Given the description of an element on the screen output the (x, y) to click on. 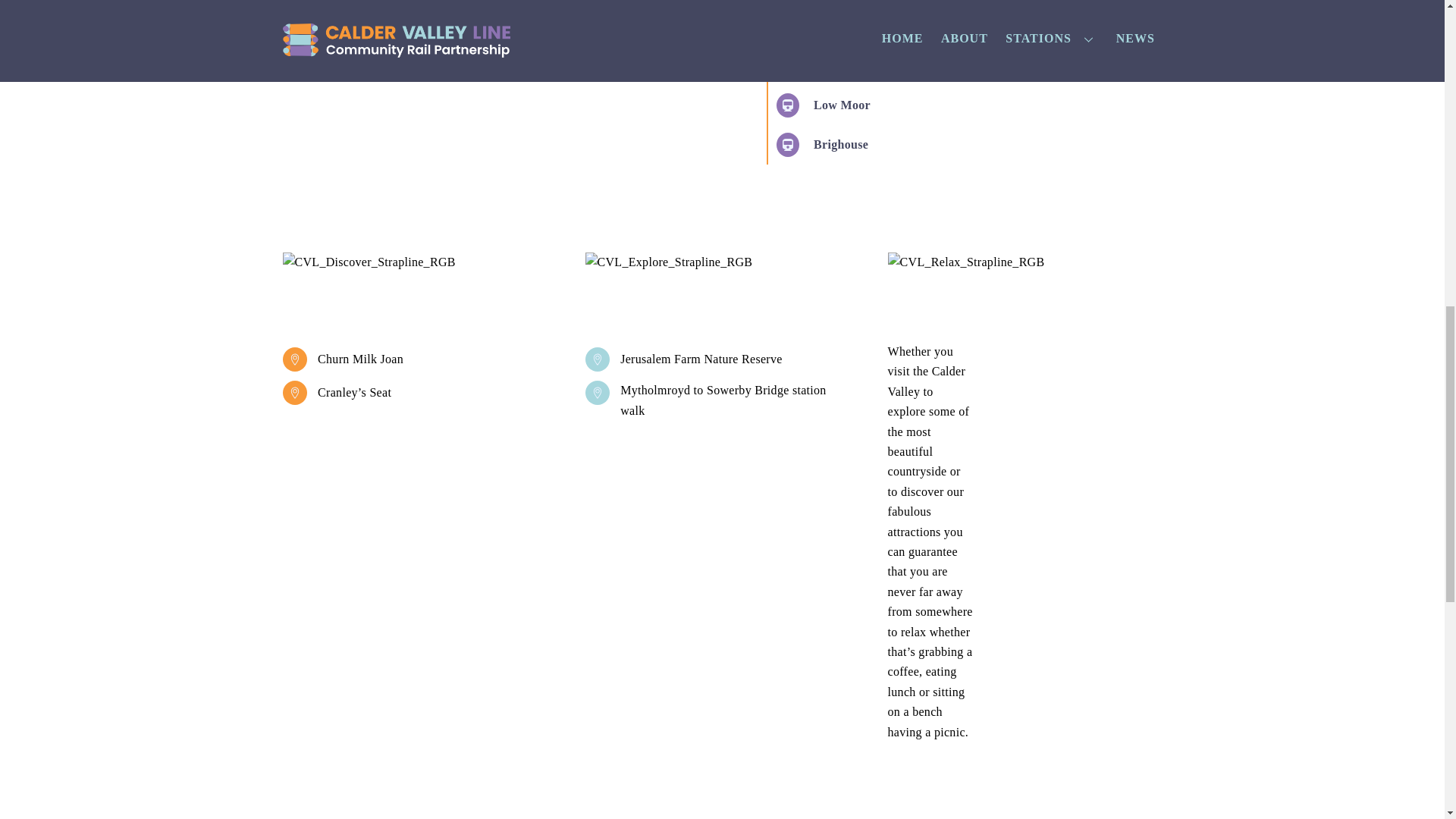
Brighouse (821, 144)
Halifax (813, 65)
Low Moor (822, 105)
Sowerby Bridge (837, 26)
